Given the description of an element on the screen output the (x, y) to click on. 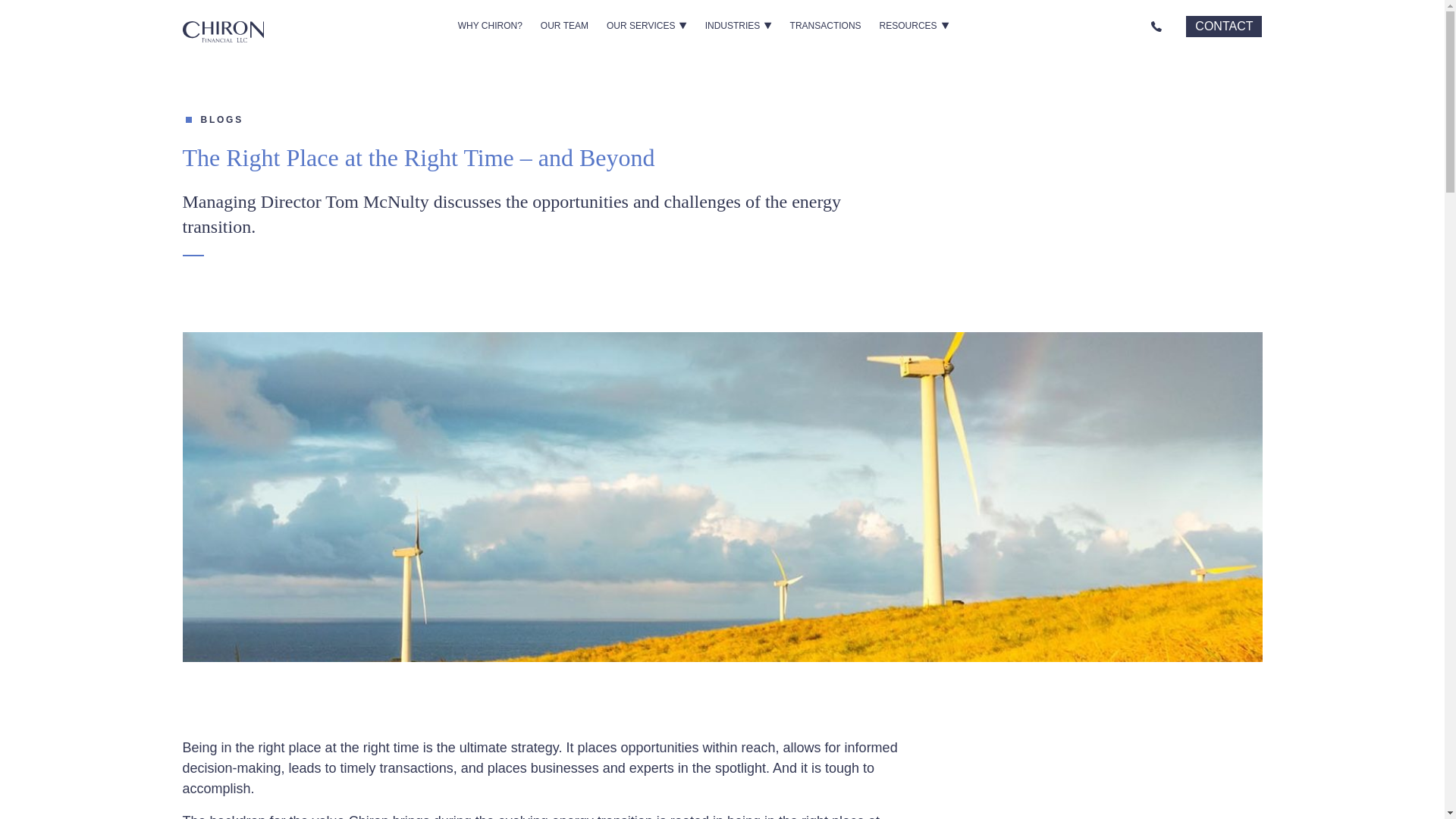
TRANSACTIONS (825, 25)
OUR TEAM (563, 25)
WHY CHIRON? (489, 25)
OUR SERVICES (645, 25)
INDUSTRIES (737, 25)
CONTACT (1224, 25)
RESOURCES (914, 25)
